Given the description of an element on the screen output the (x, y) to click on. 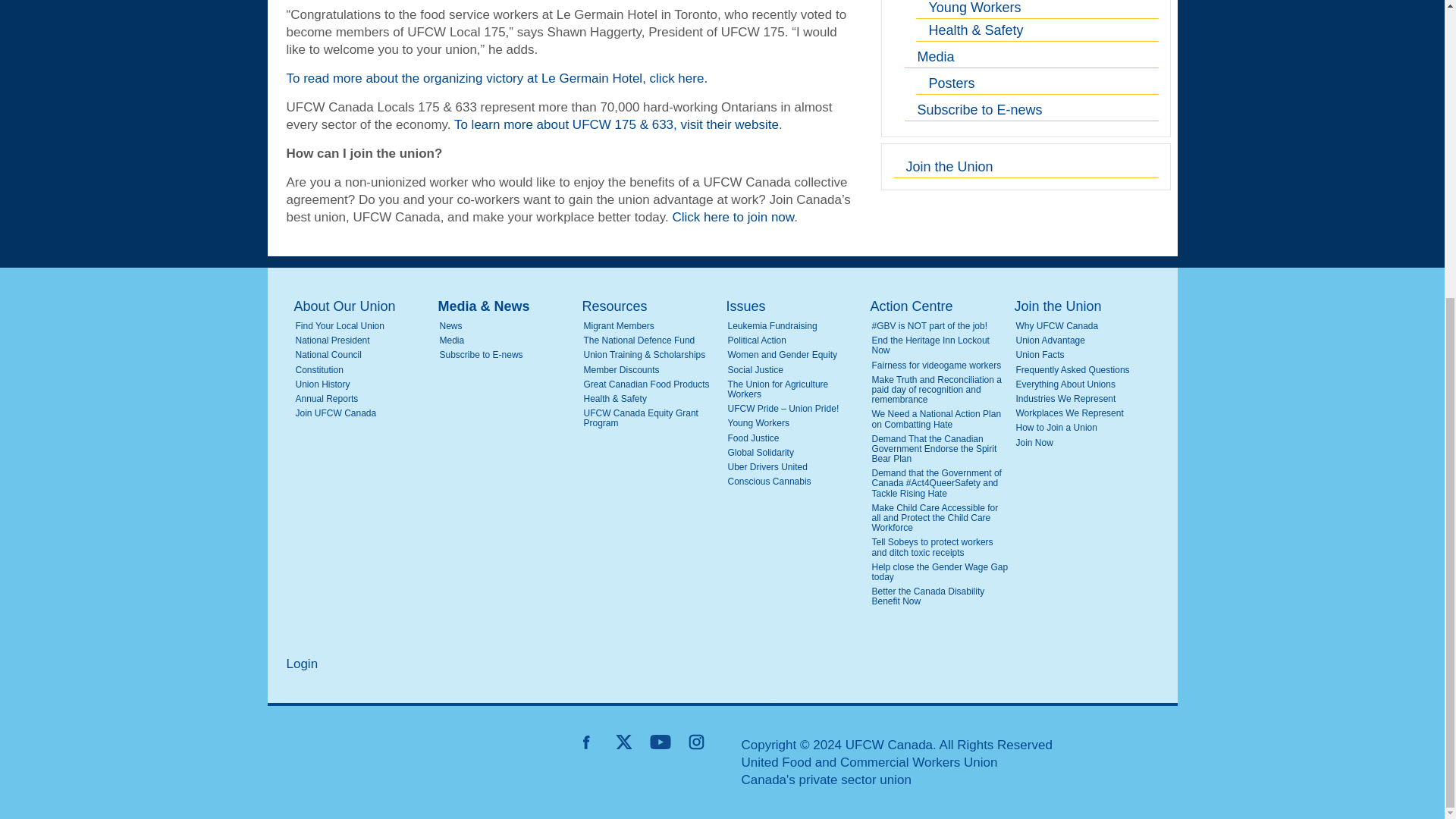
Find Your Local Union (363, 326)
About Our Union (362, 306)
National Council (363, 355)
Subscribe to E-news (1030, 109)
Click here to join now (732, 216)
Young Workers (1036, 9)
Media (1030, 56)
  Instagram (695, 741)
Join the Union (1025, 166)
Constitution (363, 370)
  X (623, 741)
Posters (1036, 83)
  Facebook (587, 741)
National President (363, 340)
